Given the description of an element on the screen output the (x, y) to click on. 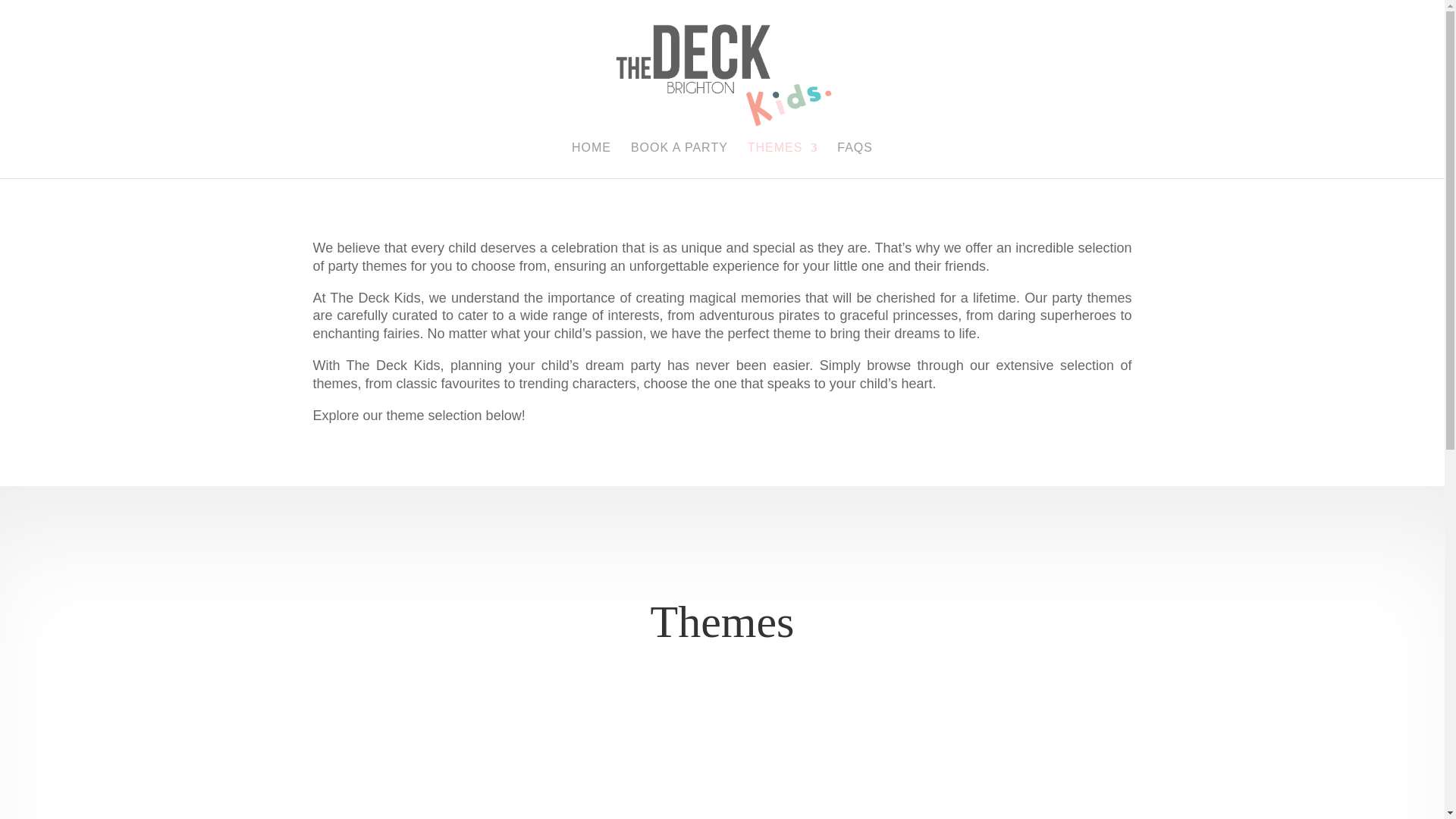
BOOK A PARTY (679, 160)
THEMES (783, 160)
FAQS (854, 160)
HOME (591, 160)
